Given the description of an element on the screen output the (x, y) to click on. 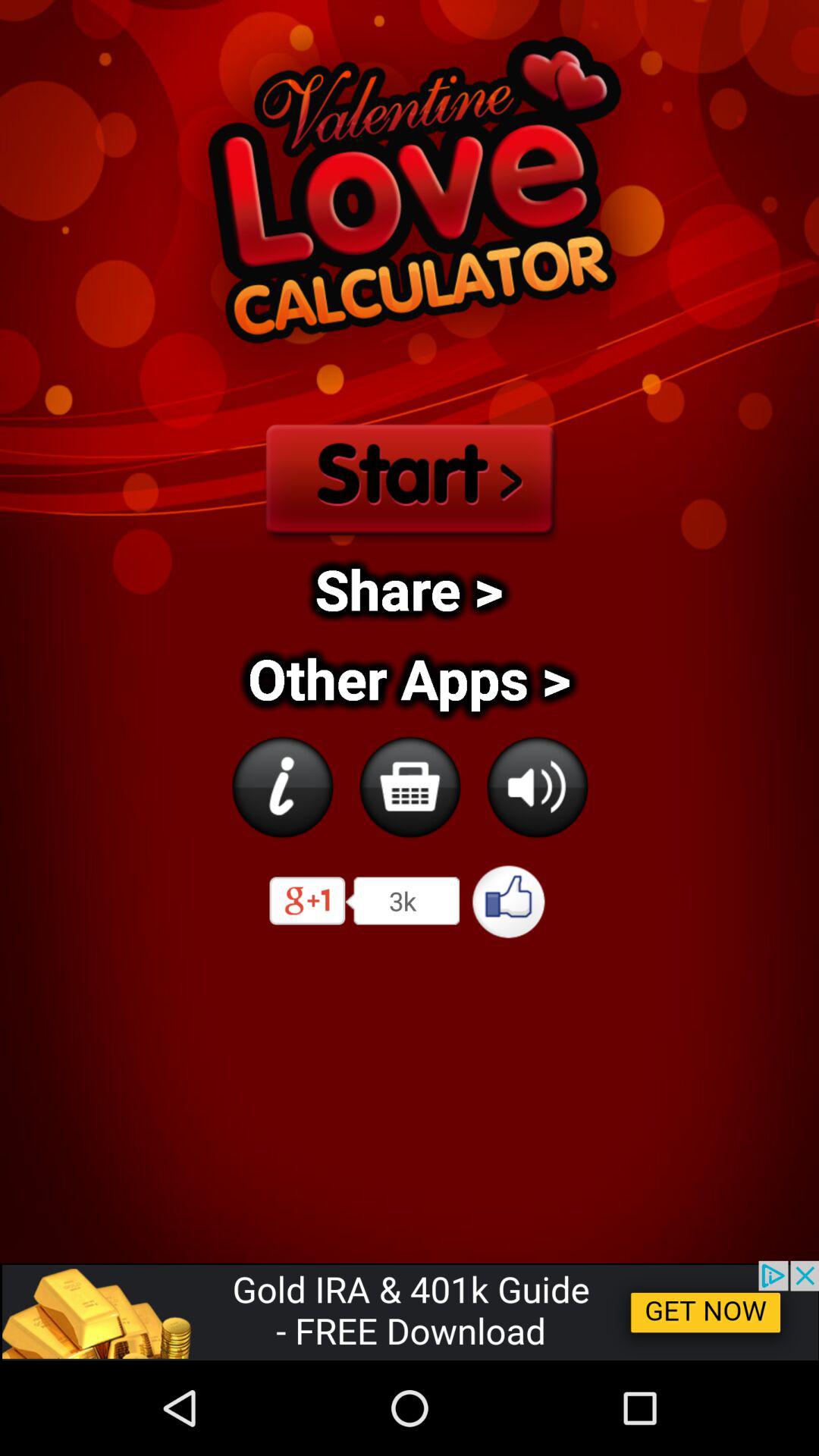
like option (509, 900)
